Given the description of an element on the screen output the (x, y) to click on. 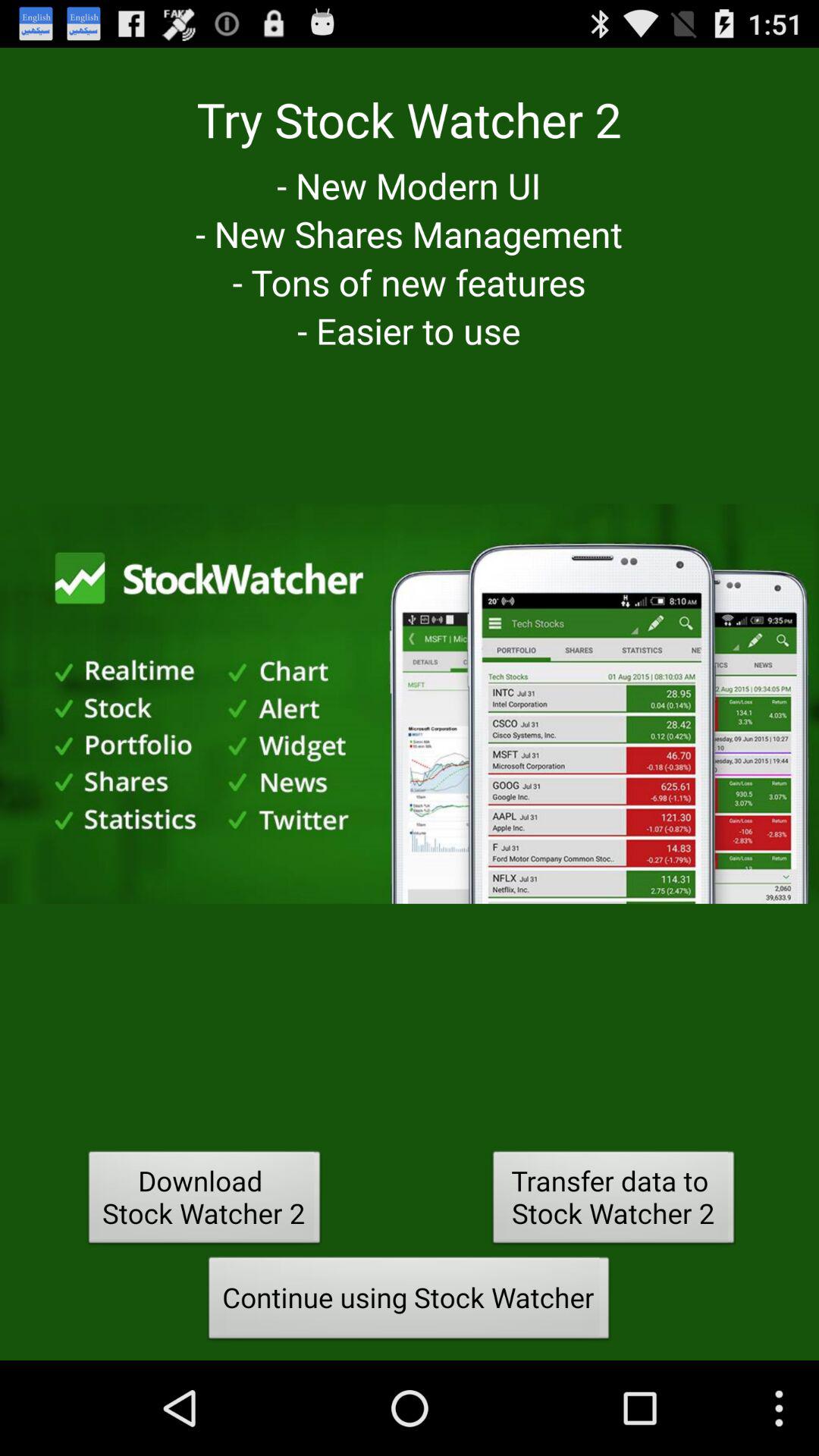
turn on the item to the right of the download stock watcher icon (613, 1201)
